Given the description of an element on the screen output the (x, y) to click on. 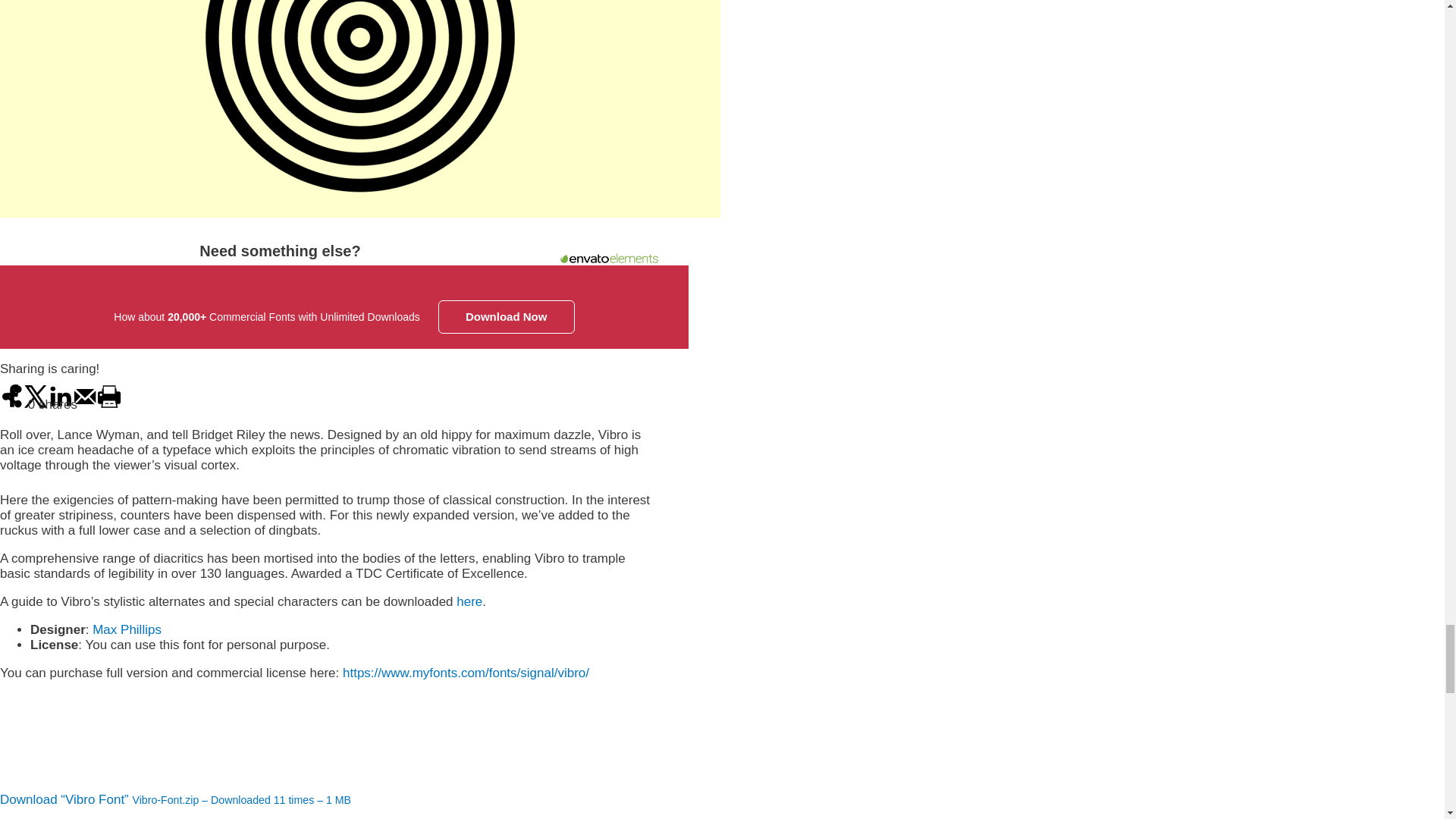
Share on Facebook (12, 404)
